Given the description of an element on the screen output the (x, y) to click on. 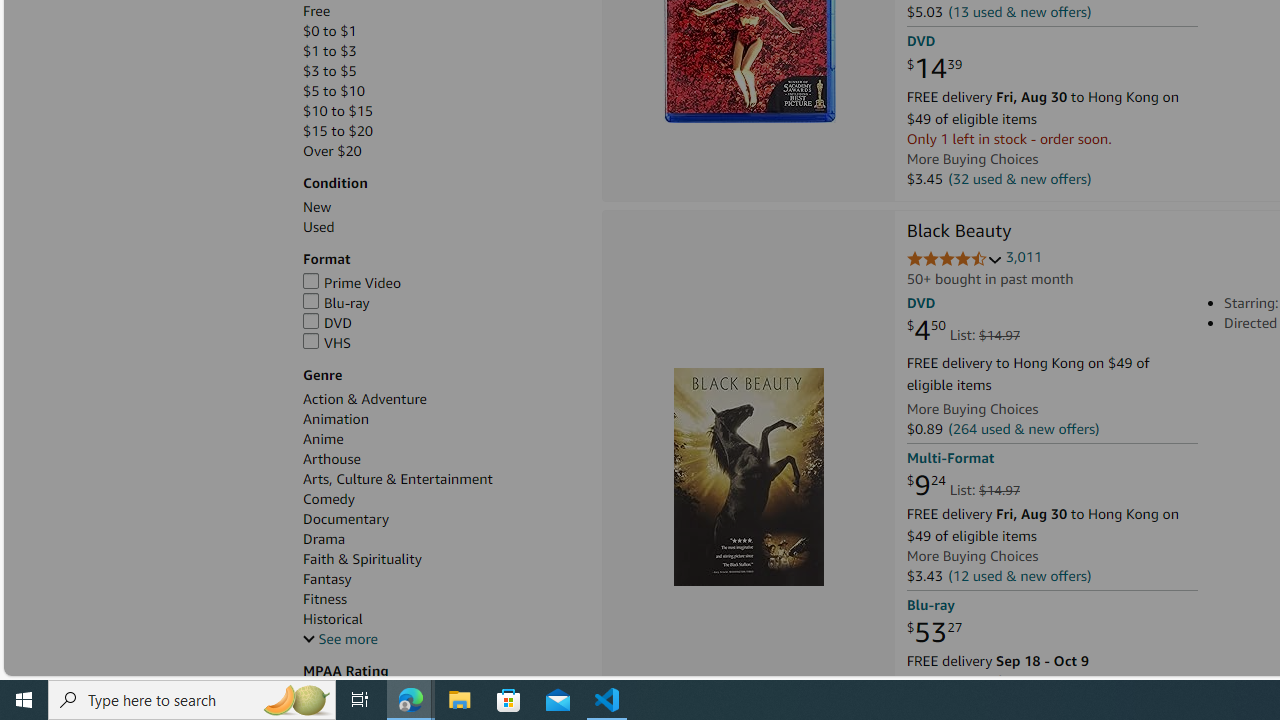
DVD (442, 323)
Go back to filtering menu (84, 666)
Arthouse (331, 459)
Prime Video (352, 282)
Fantasy (442, 579)
$9.24 List: $14.97 (963, 485)
VHS (442, 343)
Animation (442, 419)
Historical (333, 619)
Over $20 (442, 151)
Documentary (346, 519)
Arthouse (442, 459)
Skip to main search results (88, 666)
(264 used & new offers) (1023, 429)
